Given the description of an element on the screen output the (x, y) to click on. 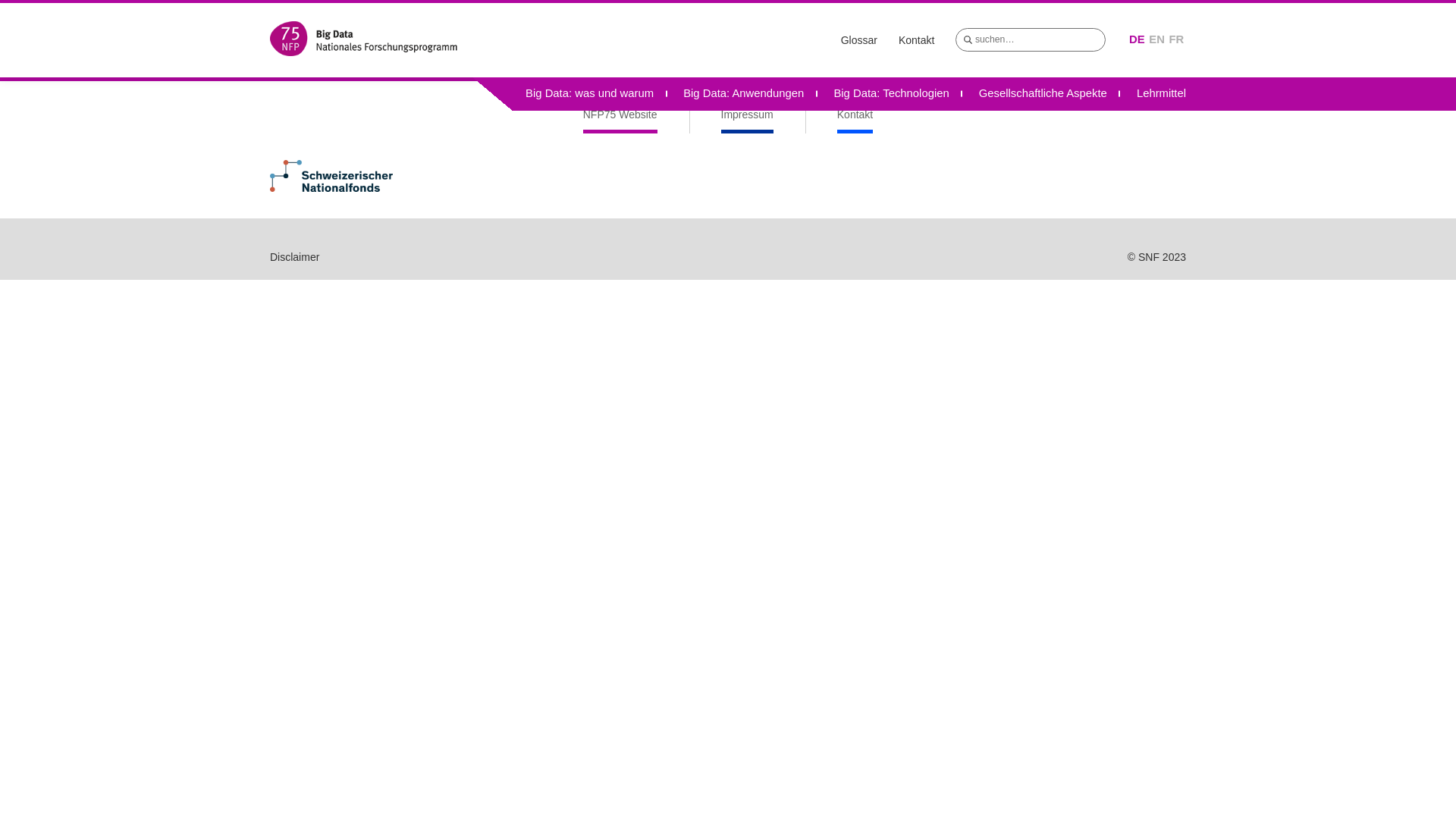
Impressum Element type: text (747, 120)
FR Element type: text (1176, 39)
Disclaimer Element type: text (294, 256)
Gesellschaftliche Aspekte Element type: text (1042, 93)
NFP75 Website Element type: text (620, 120)
Glossar Element type: text (858, 40)
Big Data: Technologien Element type: text (891, 93)
Kontakt Element type: text (854, 120)
Kontakt Element type: text (916, 40)
Big Data: Anwendungen Element type: text (743, 93)
Lehrmittel Element type: text (1154, 93)
Big Data: was und warum Element type: text (589, 93)
EN Element type: text (1156, 39)
